Given the description of an element on the screen output the (x, y) to click on. 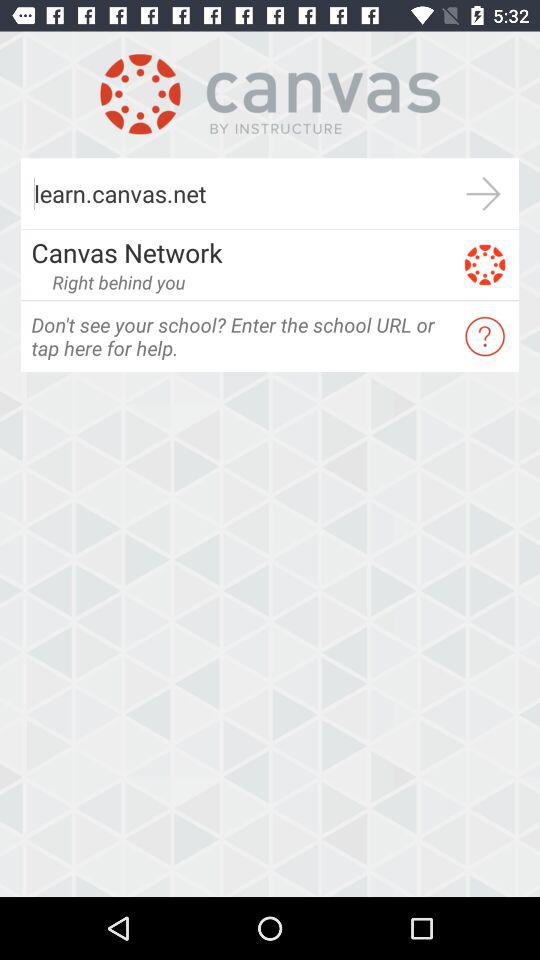
open icon at the center (240, 336)
